Given the description of an element on the screen output the (x, y) to click on. 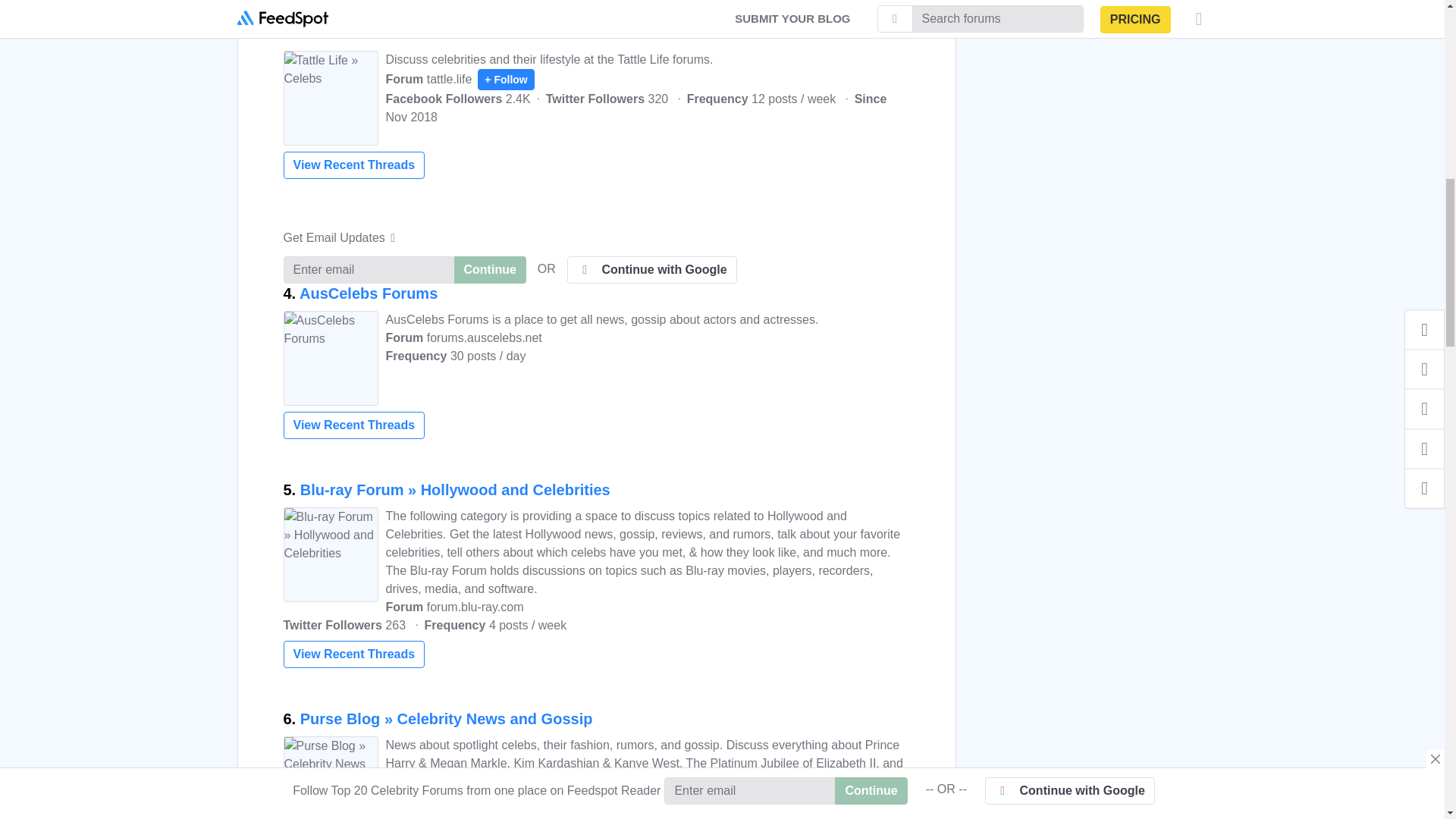
Continue (488, 269)
Continue (488, 11)
